Given the description of an element on the screen output the (x, y) to click on. 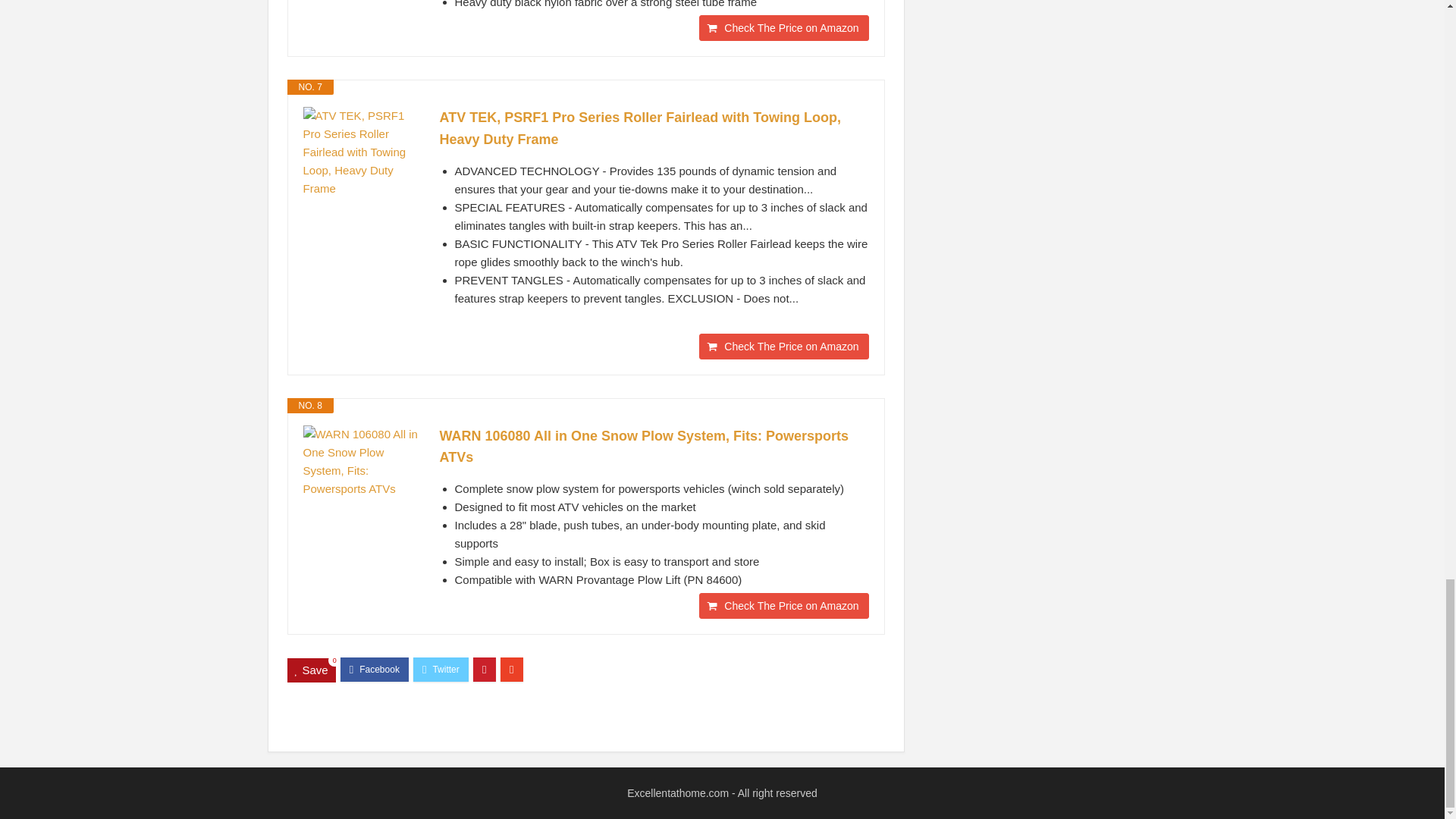
Check The Price on Amazon (782, 346)
Check The Price on Amazon (782, 605)
Check The Price on Amazon (782, 27)
